Given the description of an element on the screen output the (x, y) to click on. 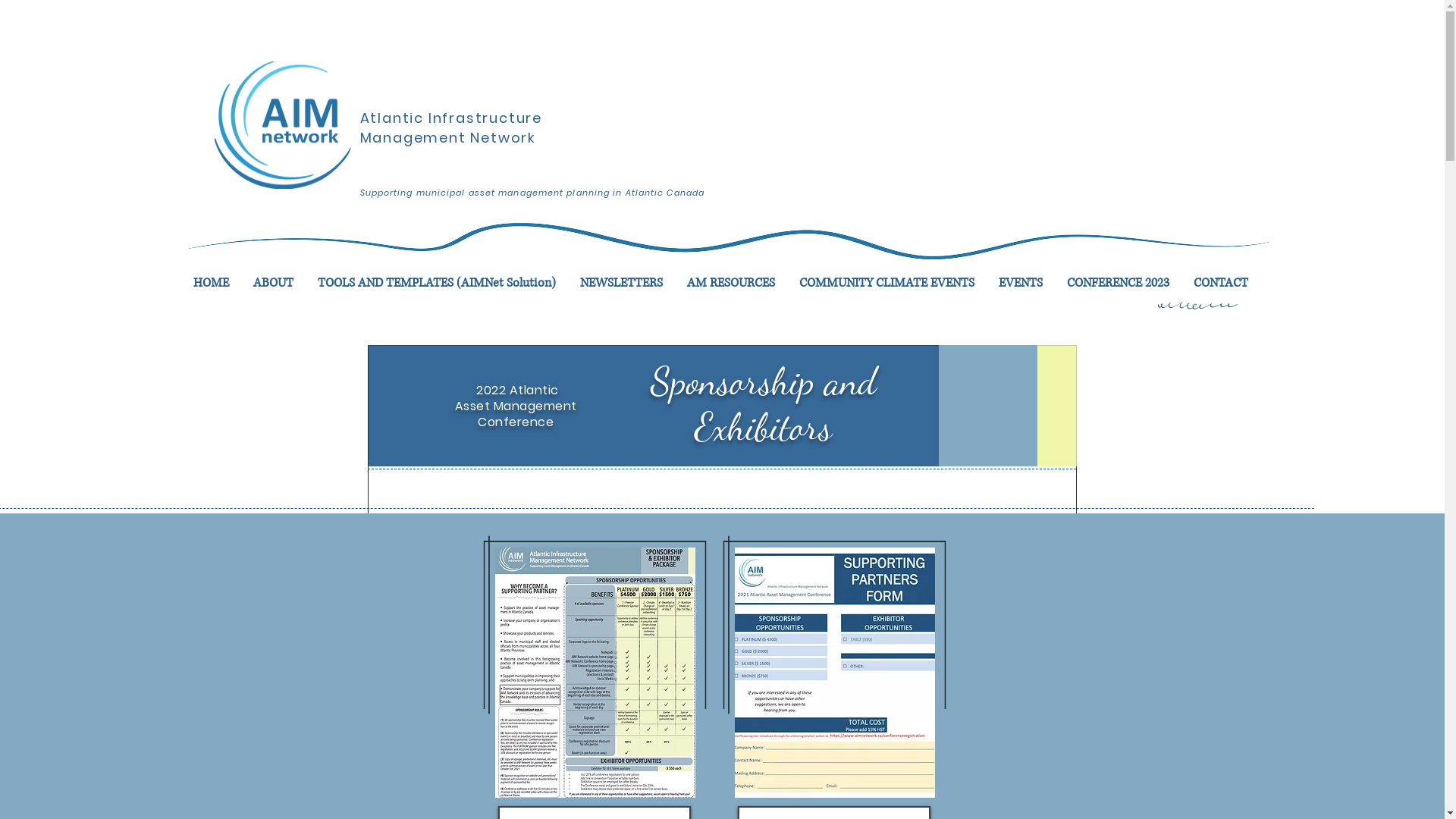
NEWSLETTERS Element type: text (620, 282)
TOOLS AND TEMPLATES (AIMNet Solution) Element type: text (435, 282)
COMMUNITY CLIMATE EVENTS Element type: text (886, 282)
EVENTS Element type: text (1019, 282)
CONFERENCE 2023 Element type: text (1117, 282)
HOME Element type: text (210, 282)
ABOUT Element type: text (273, 282)
AM RESOURCES Element type: text (730, 282)
CONTACT Element type: text (1220, 282)
